Given the description of an element on the screen output the (x, y) to click on. 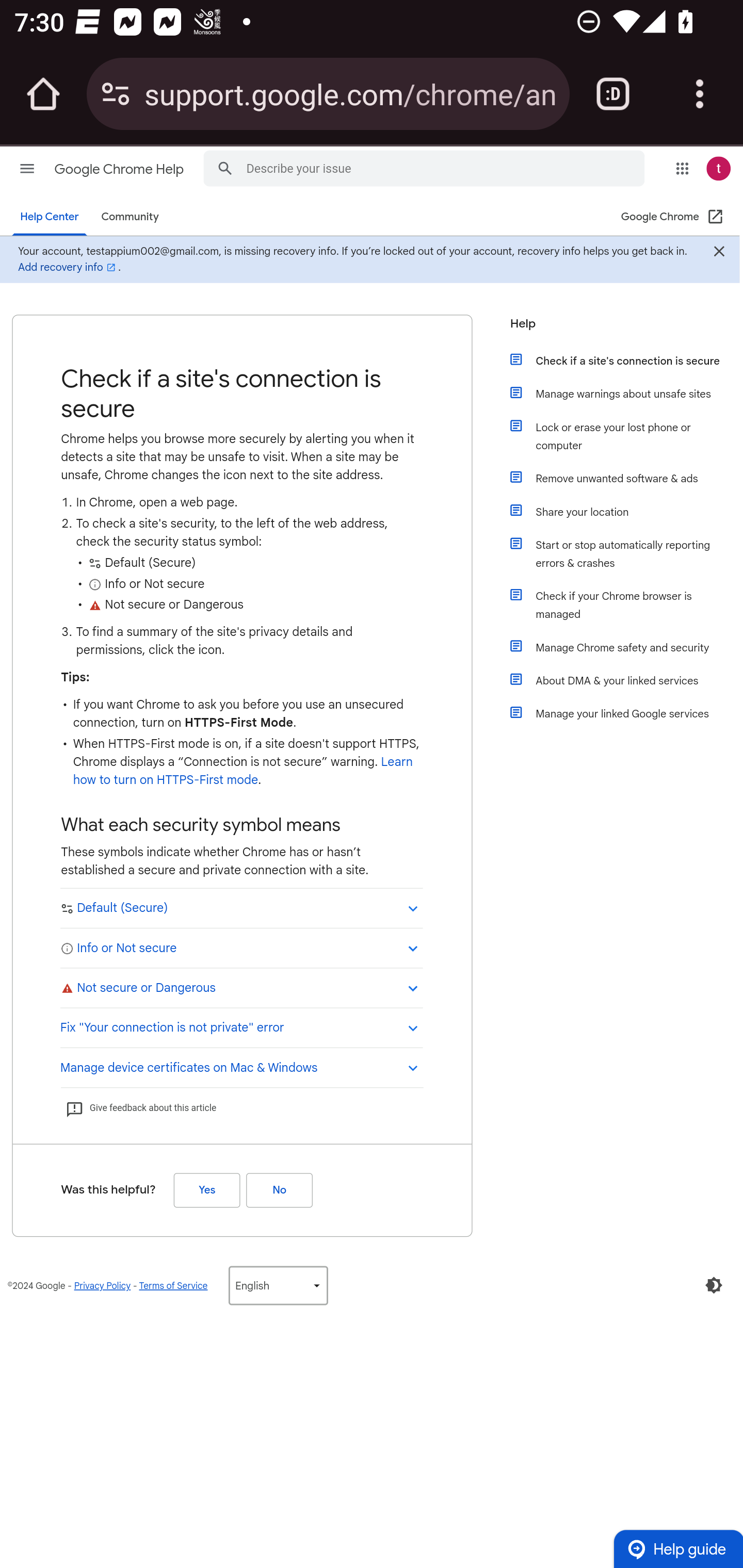
Open the home page (43, 93)
Connection is secure (115, 93)
Switch or close tabs (612, 93)
Customize and control Google Chrome (699, 93)
Main menu (27, 168)
Google Chrome Help (120, 169)
Search Help Center (224, 167)
Google apps (681, 168)
Help Center (48, 217)
Community (129, 217)
Google Chrome (Open in a new window) Google Chrome (672, 217)
Close (718, 252)
Add recovery info (67, 267)
Help Help Help (618, 328)
Check if a site's connection is secure (626, 360)
Manage warnings about unsafe sites (626, 393)
Lock or erase your lost phone or computer (626, 436)
Remove unwanted software & ads (626, 477)
Share your location (626, 511)
Check if your Chrome browser is managed (626, 604)
Manage Chrome safety and security (626, 647)
About DMA & your linked services (626, 680)
Manage your linked Google services (626, 713)
Learn how to turn on HTTPS-First mode (242, 770)
Default (Secure) Default (Secure) (240, 907)
View site information Info or Not secure (240, 946)
Dangerous Not secure or Dangerous (240, 987)
Fix "Your connection is not private" error (240, 1026)
Manage device certificates on Mac & Windows (240, 1065)
Give feedback about this article (140, 1107)
Yes (Was this helpful?) (206, 1189)
No (Was this helpful?) (278, 1189)
Language (English‎) (277, 1284)
Enable Dark Mode (713, 1284)
Privacy Policy (101, 1285)
Terms of Service (173, 1285)
Help guide (677, 1548)
